Given the description of an element on the screen output the (x, y) to click on. 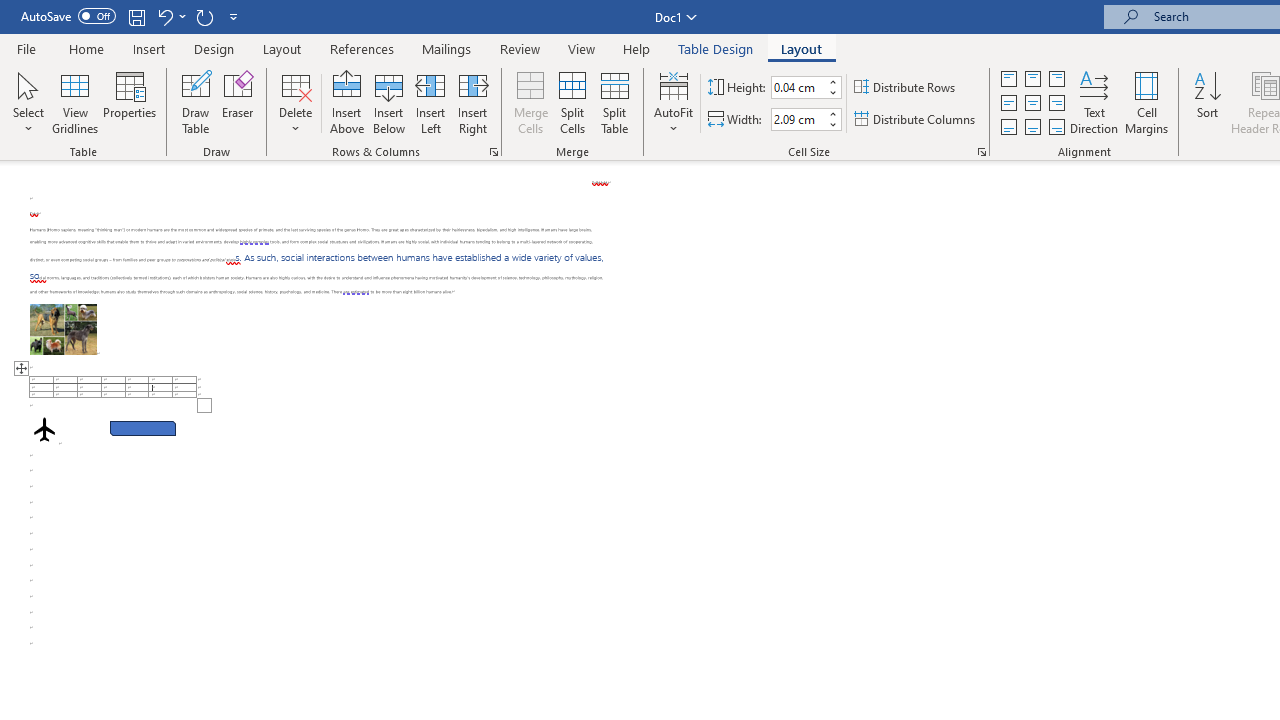
Insert Above (347, 102)
Eraser (237, 102)
Insert Cells... (493, 151)
Align Center Justified (1009, 103)
Undo Row Height Spinner (170, 15)
Cell Margins... (1146, 102)
Align Center Right (1056, 103)
Draw Table (196, 102)
Table Row Height (797, 87)
